Given the description of an element on the screen output the (x, y) to click on. 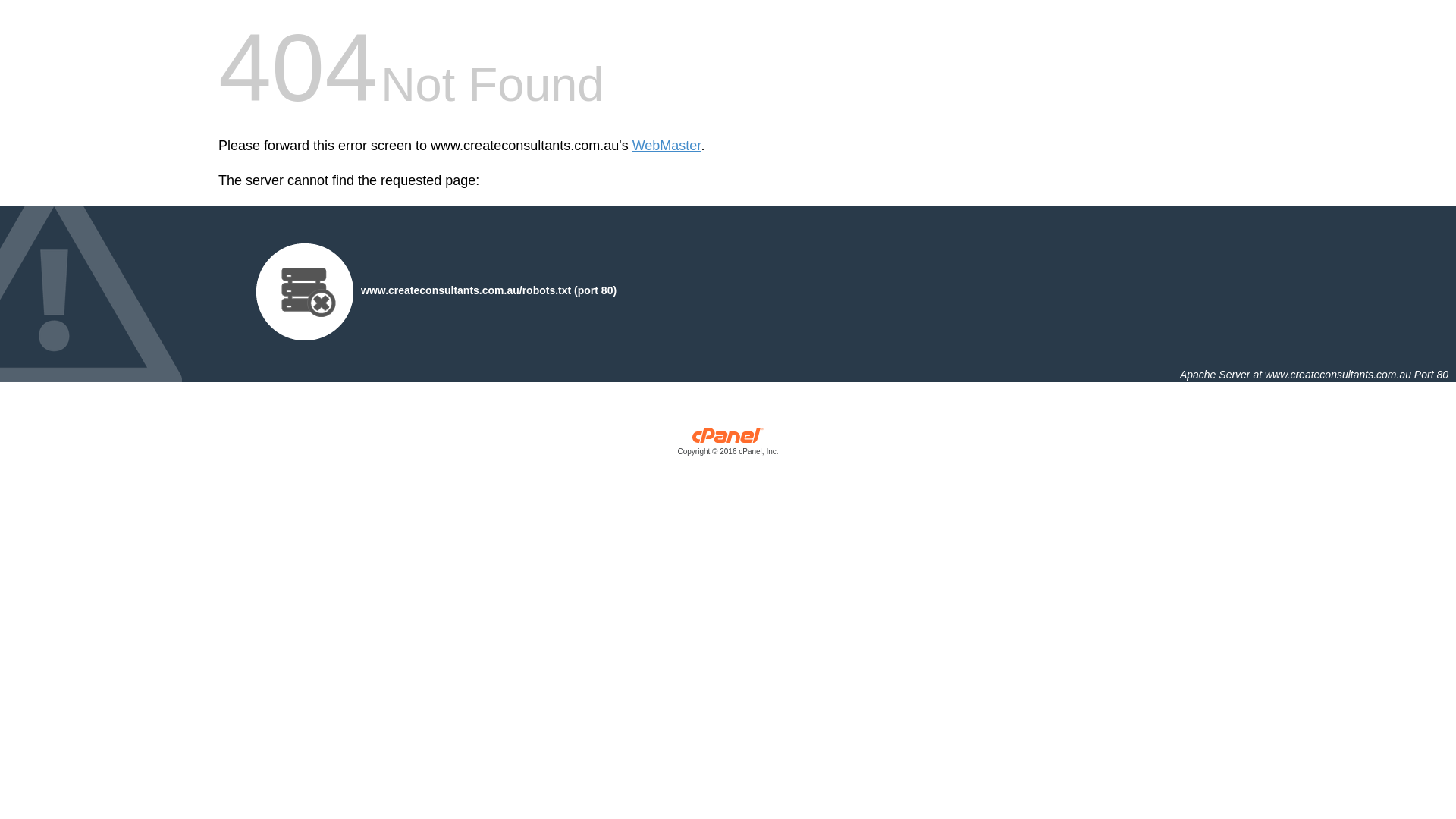
WebMaster Element type: text (666, 145)
